Given the description of an element on the screen output the (x, y) to click on. 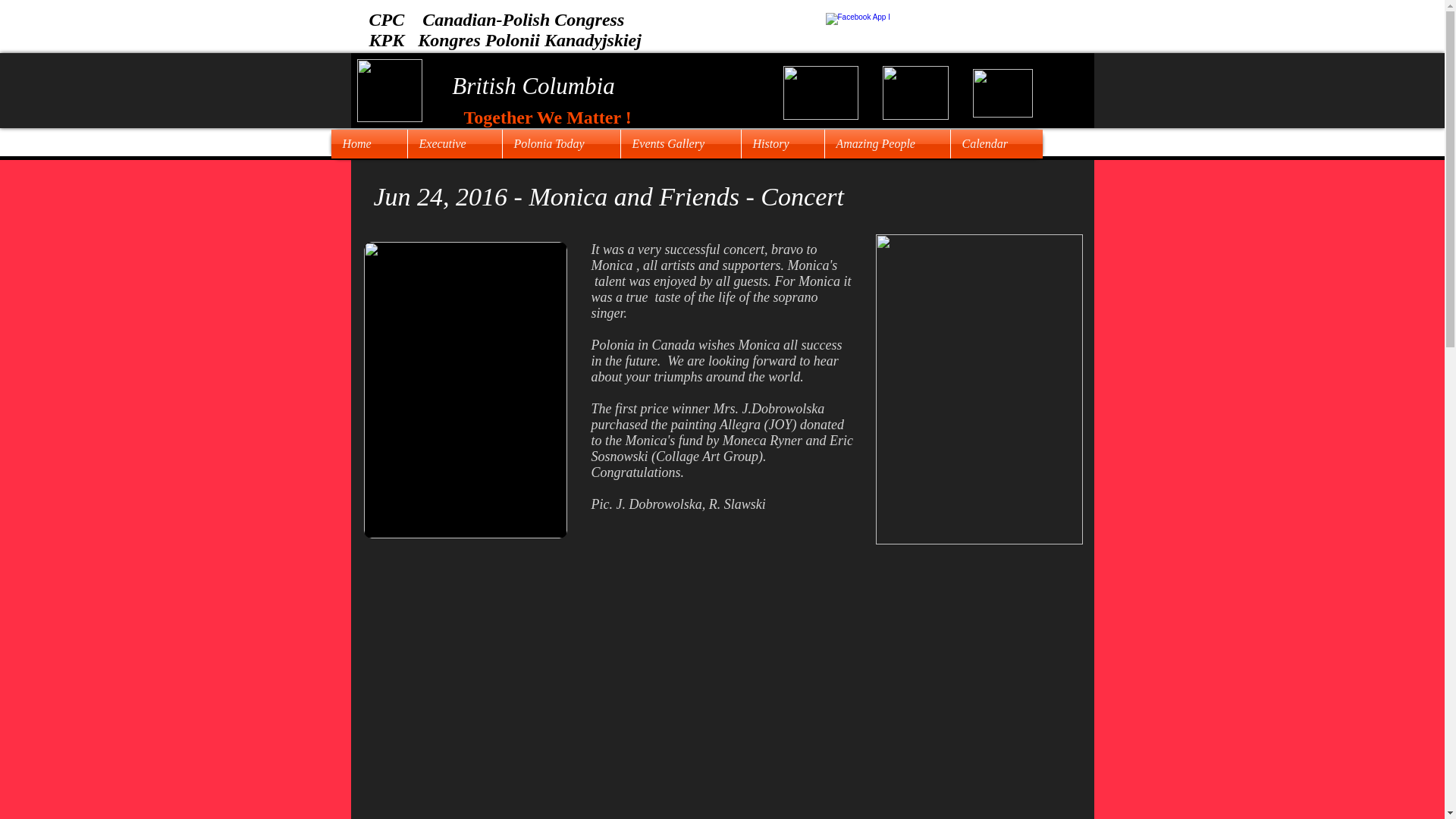
Events Gallery (679, 143)
Executive (454, 143)
Polonia Today (561, 143)
Home (368, 143)
Facebook Like (969, 35)
